Given the description of an element on the screen output the (x, y) to click on. 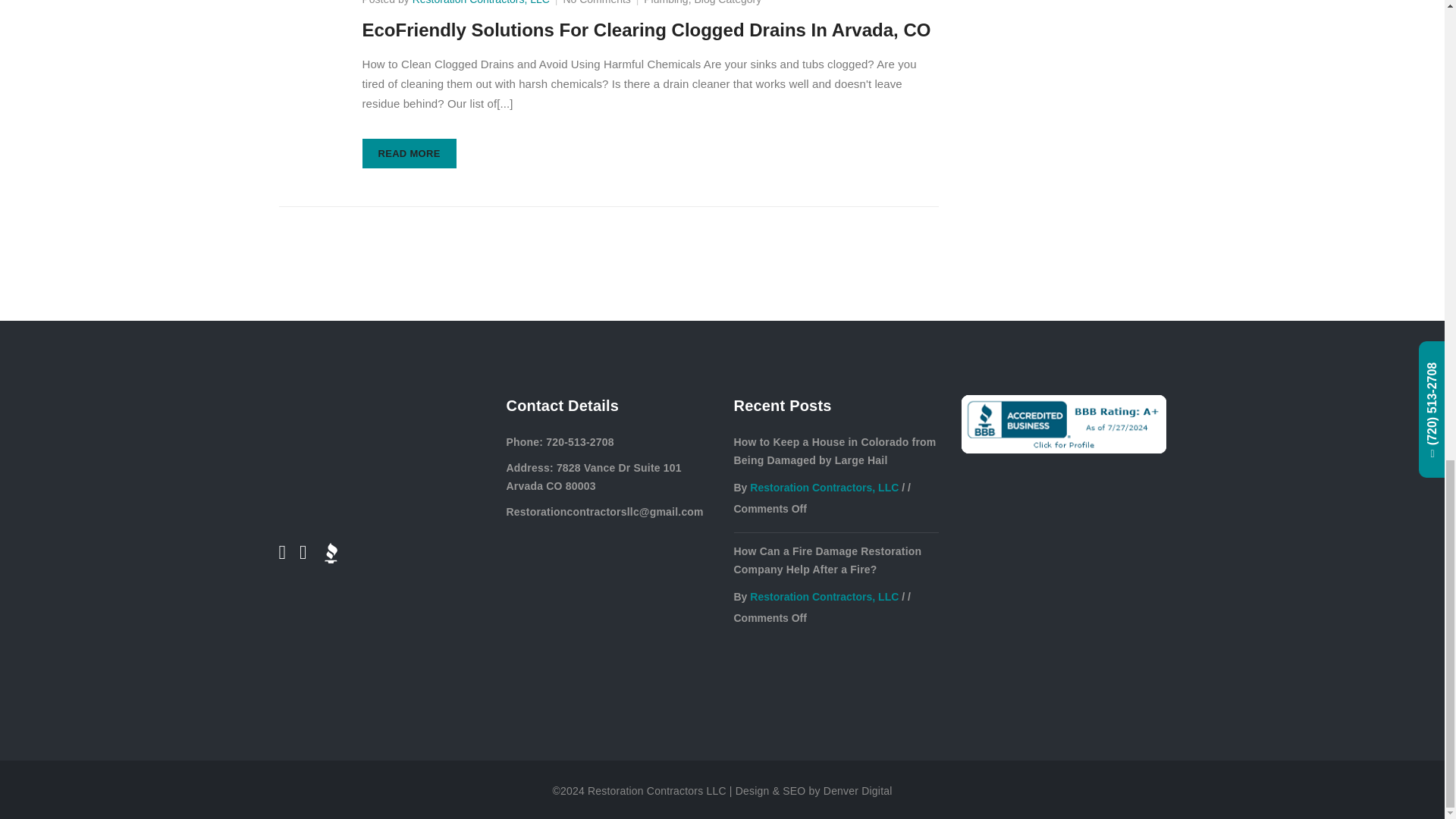
READ MORE (409, 153)
Plumbing (665, 2)
Blog Category (727, 2)
Restoration Contractors, LLC (481, 2)
